Given the description of an element on the screen output the (x, y) to click on. 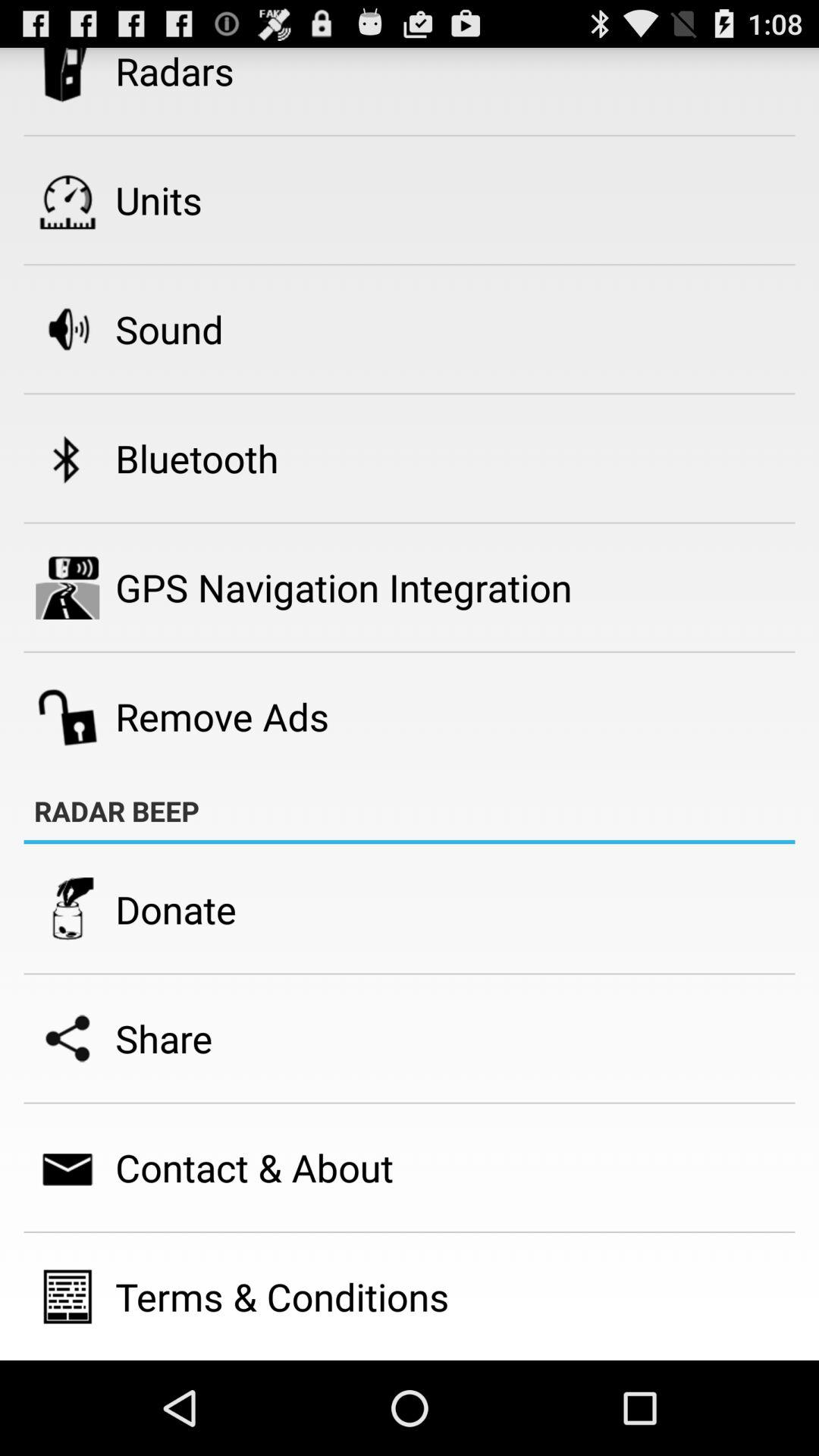
press the item below contact & about app (282, 1296)
